Given the description of an element on the screen output the (x, y) to click on. 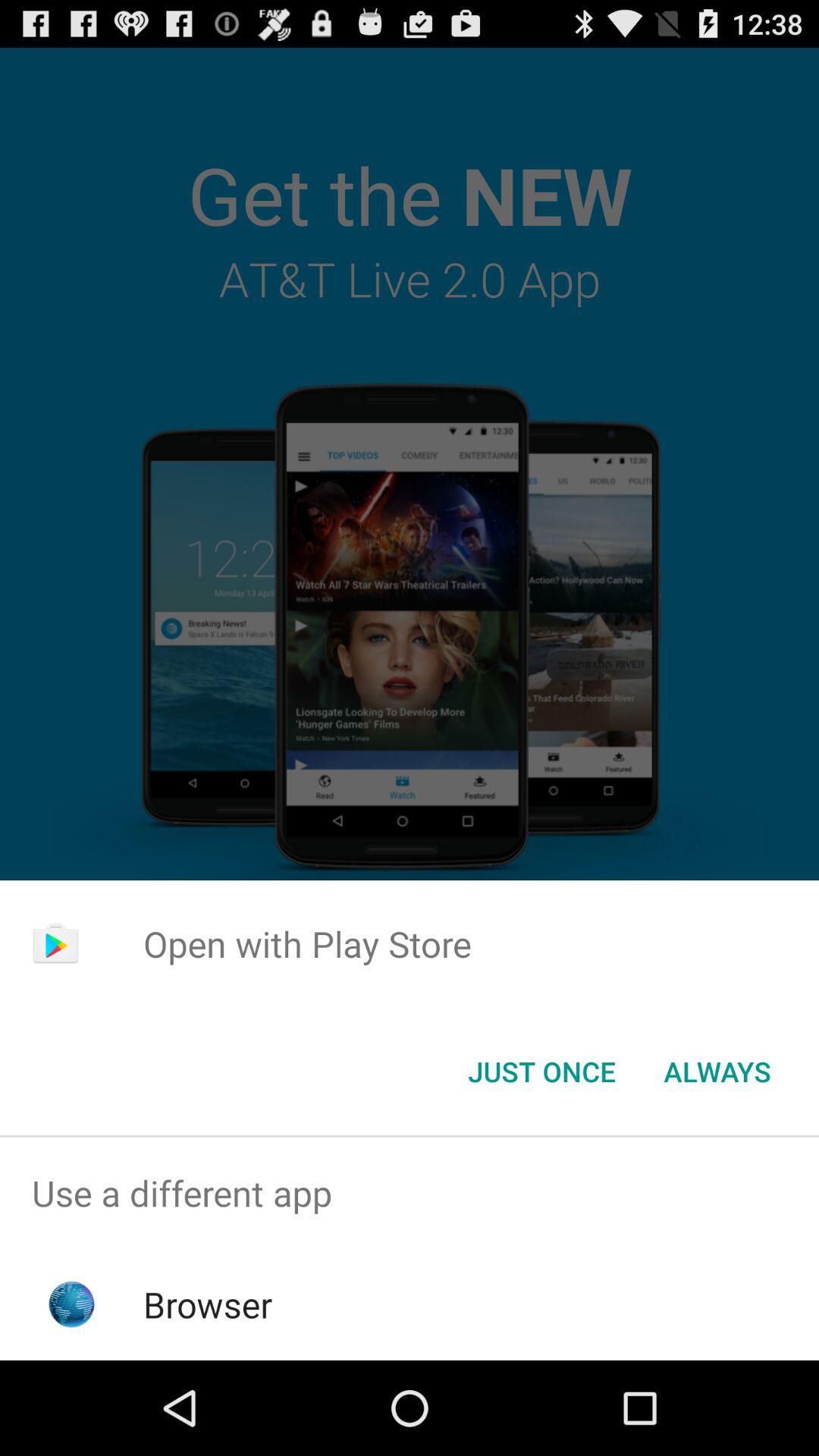
tap the icon above browser item (409, 1192)
